Given the description of an element on the screen output the (x, y) to click on. 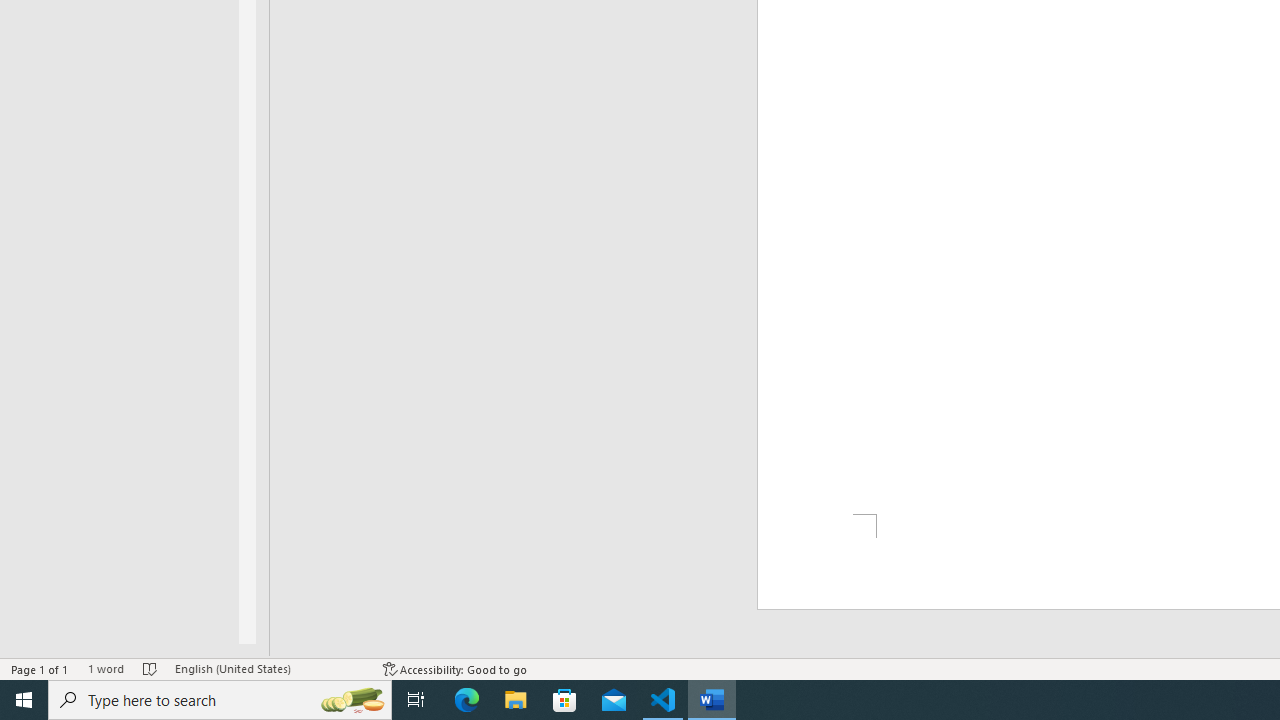
Page Number Page 1 of 1 (39, 668)
Spelling and Grammar Check No Errors (150, 668)
